Given the description of an element on the screen output the (x, y) to click on. 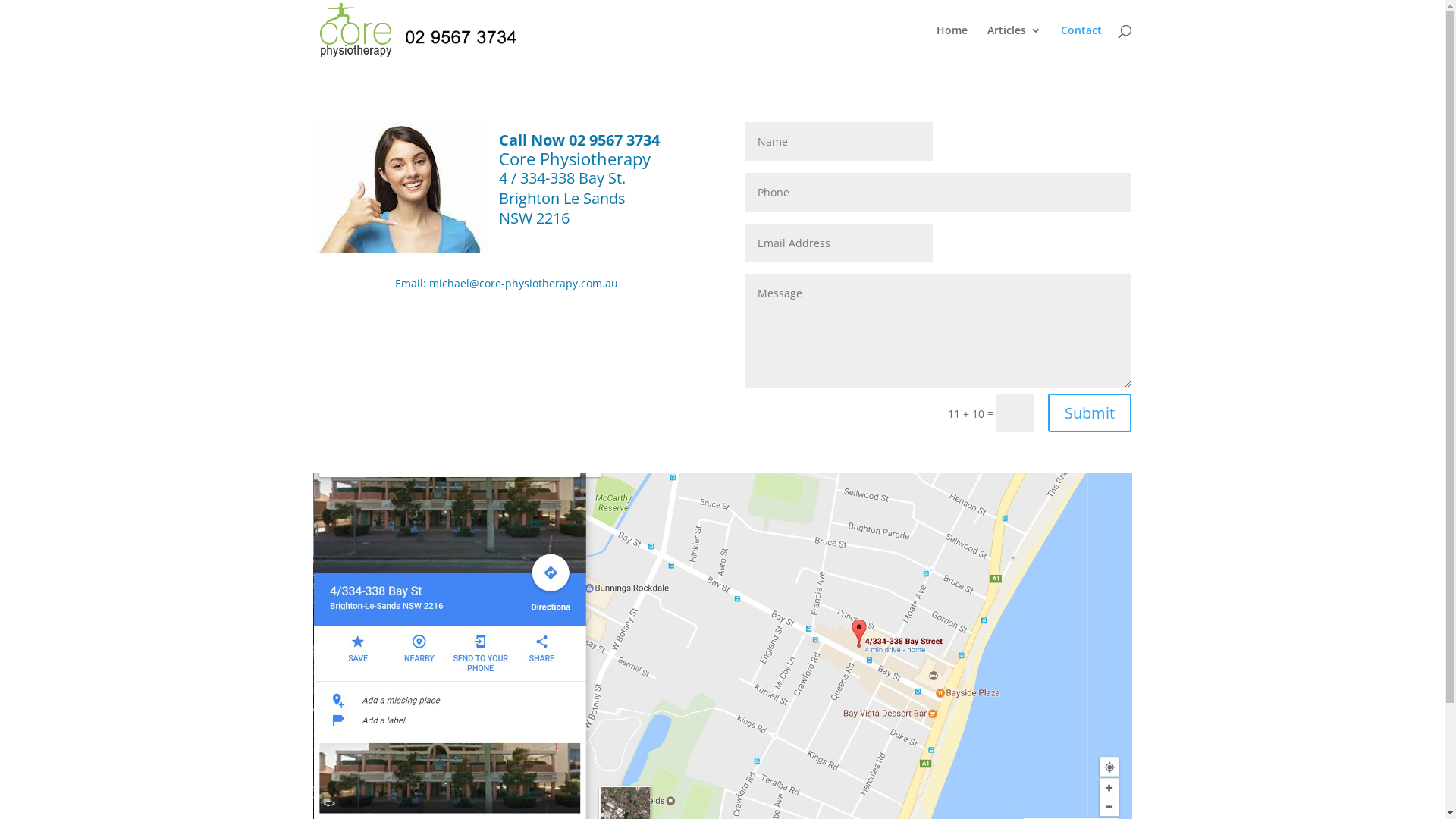
Articles Element type: text (1014, 42)
Home Element type: text (950, 42)
Contact Element type: text (1080, 42)
Only numbers allowed. Element type: hover (938, 191)
Submit Element type: text (1089, 412)
